Given the description of an element on the screen output the (x, y) to click on. 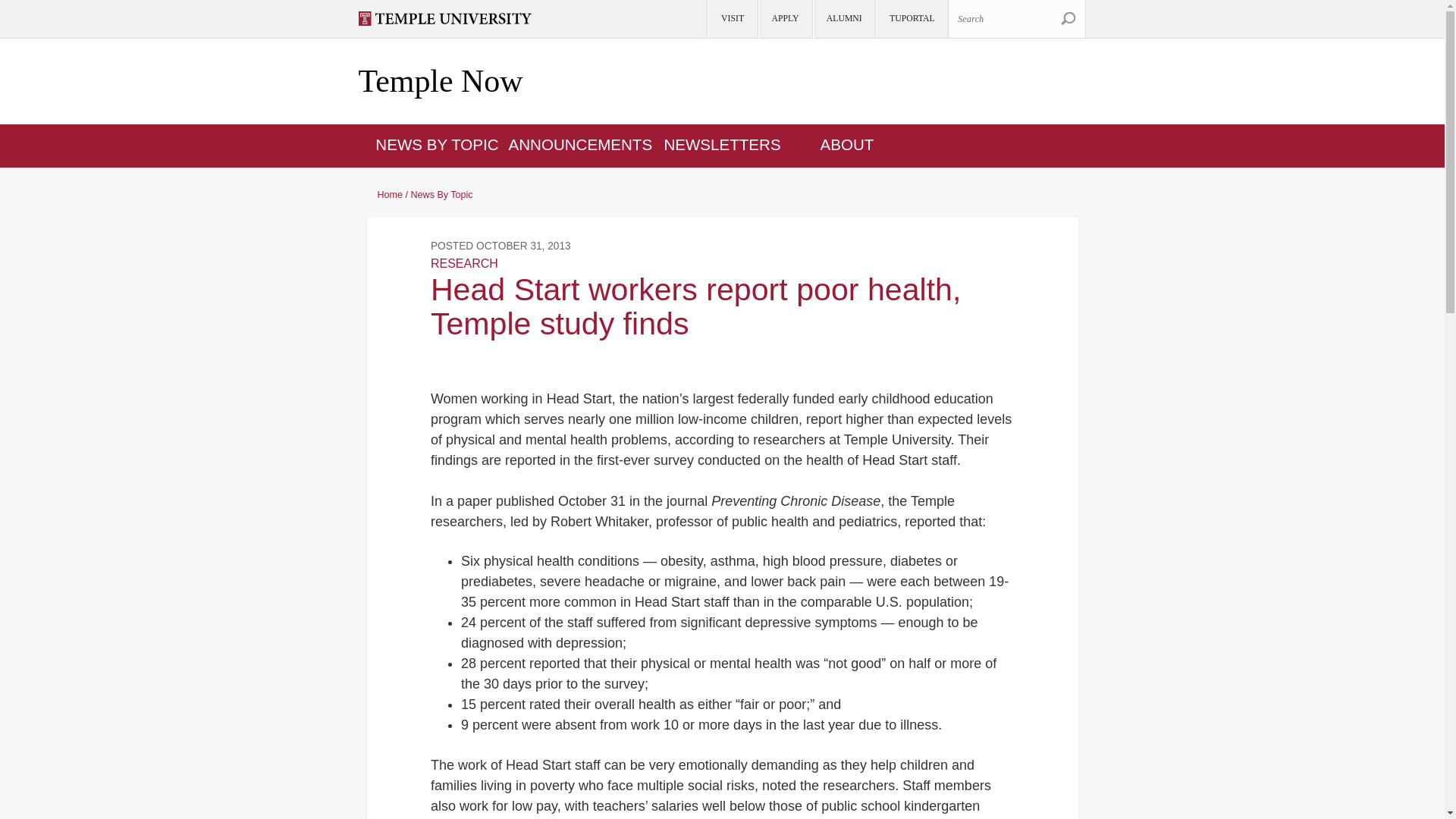
ANNOUNCEMENTS (580, 144)
NEWS BY TOPIC (436, 144)
NEWSLETTERS (721, 144)
Search (1067, 18)
TUPORTAL (911, 19)
APPLY (784, 19)
Temple Now (440, 81)
ALUMNI (843, 19)
Search (1016, 18)
VISIT (731, 19)
